Given the description of an element on the screen output the (x, y) to click on. 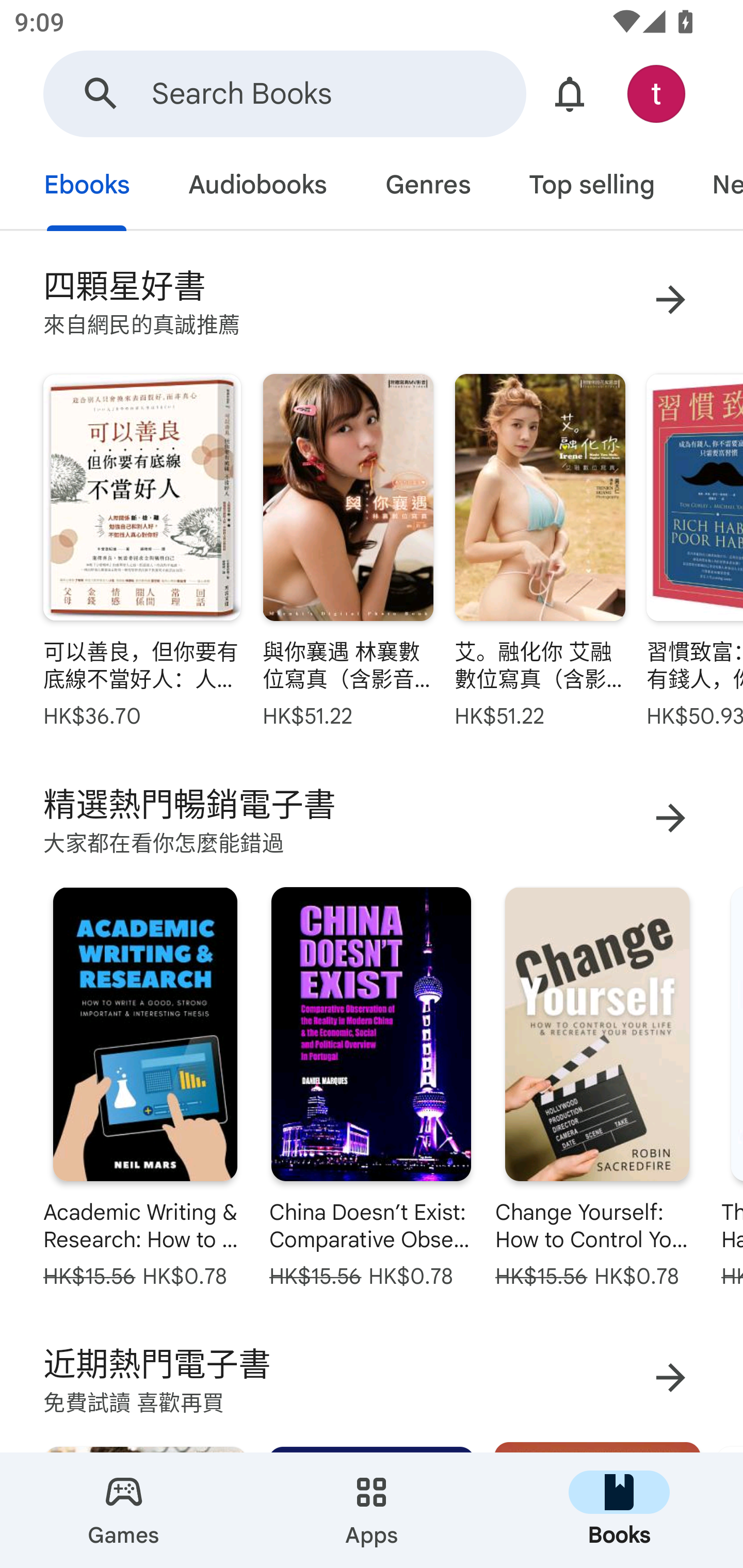
Search Google Play Search Books (284, 93)
Search Google Play (100, 93)
Show notifications and offers. (569, 93)
Audiobooks (257, 187)
Genres (427, 187)
Top selling (590, 187)
四顆星好書 來自網民的真誠推薦 More results for 四顆星好書 (371, 299)
More results for 四顆星好書 (670, 299)
精選熱門暢銷電子書 大家都在看你怎麼能錯過 More results for 精選熱門暢銷電子書 (371, 817)
More results for 精選熱門暢銷電子書 (670, 817)
近期熱門電子書 免費試讀 喜歡再買 More results for 近期熱門電子書 (371, 1377)
More results for 近期熱門電子書 (670, 1377)
Games (123, 1509)
Apps (371, 1509)
